Given the description of an element on the screen output the (x, y) to click on. 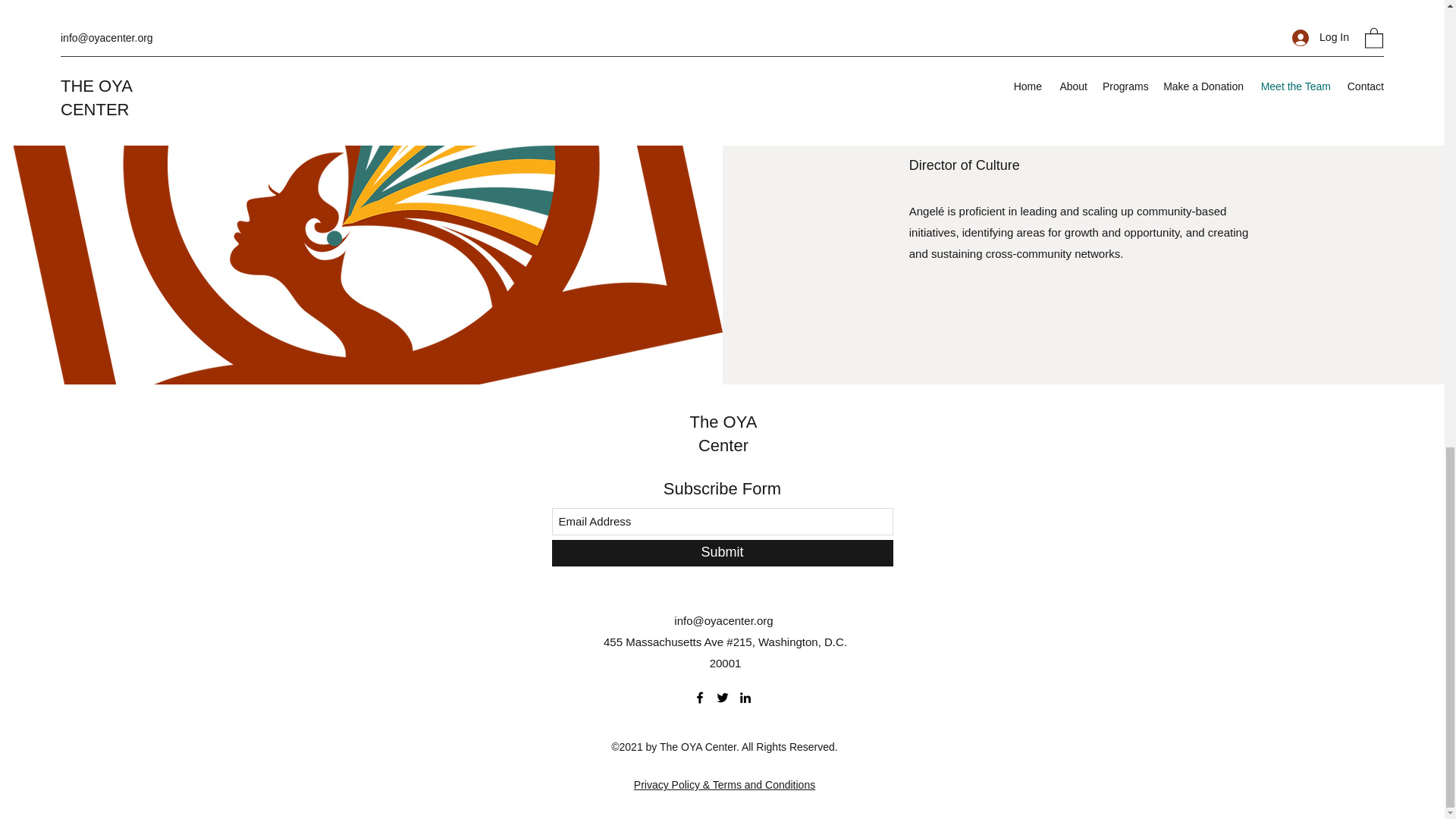
The OYA Center (723, 433)
Submit (722, 552)
